Given the description of an element on the screen output the (x, y) to click on. 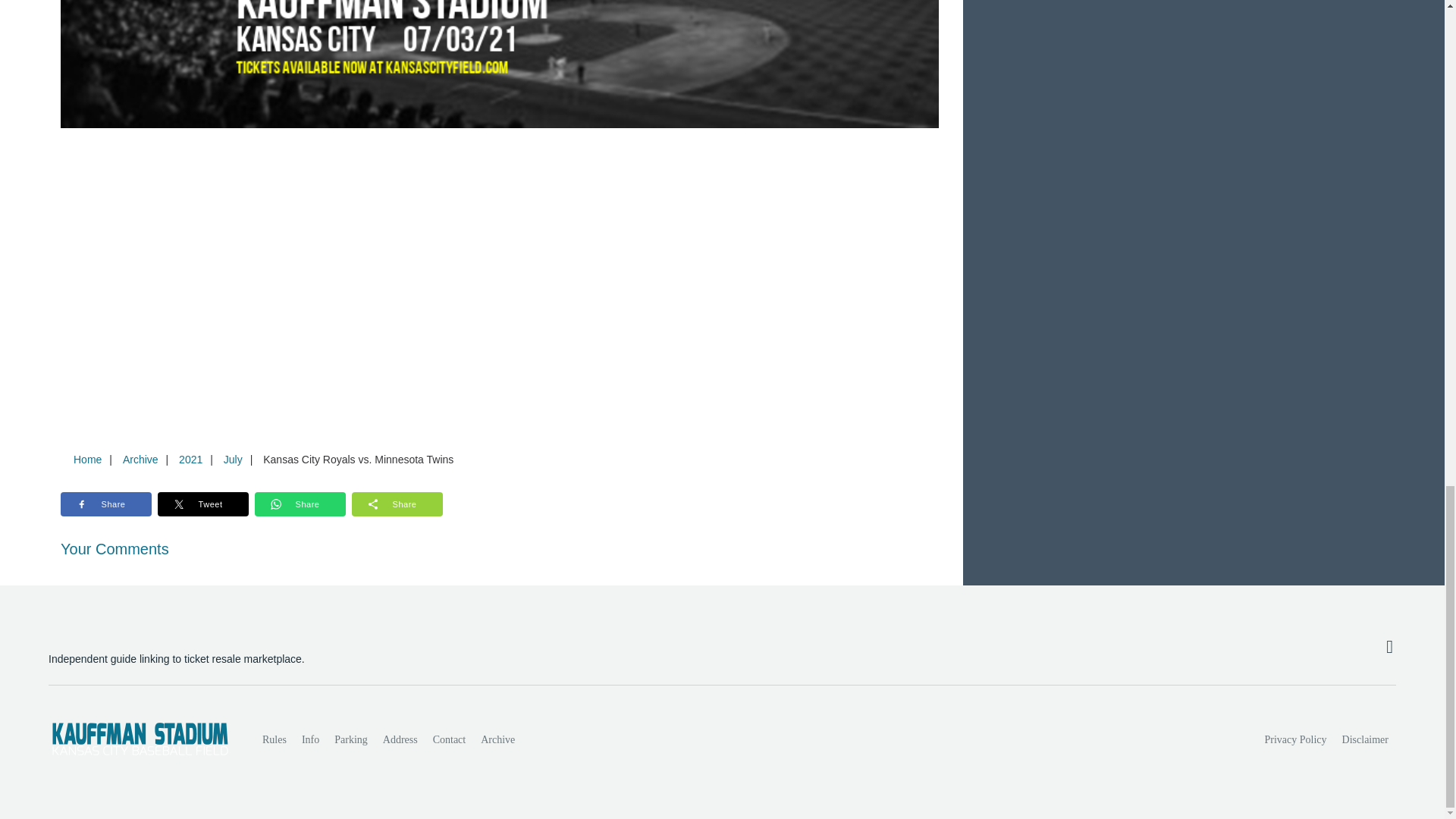
Info (310, 739)
Parking (350, 739)
Home (87, 459)
2021 (190, 459)
Archive (140, 459)
Rules (274, 739)
Disclaimer (1365, 739)
Contact (449, 739)
Privacy Policy (1296, 739)
July (232, 459)
